Given the description of an element on the screen output the (x, y) to click on. 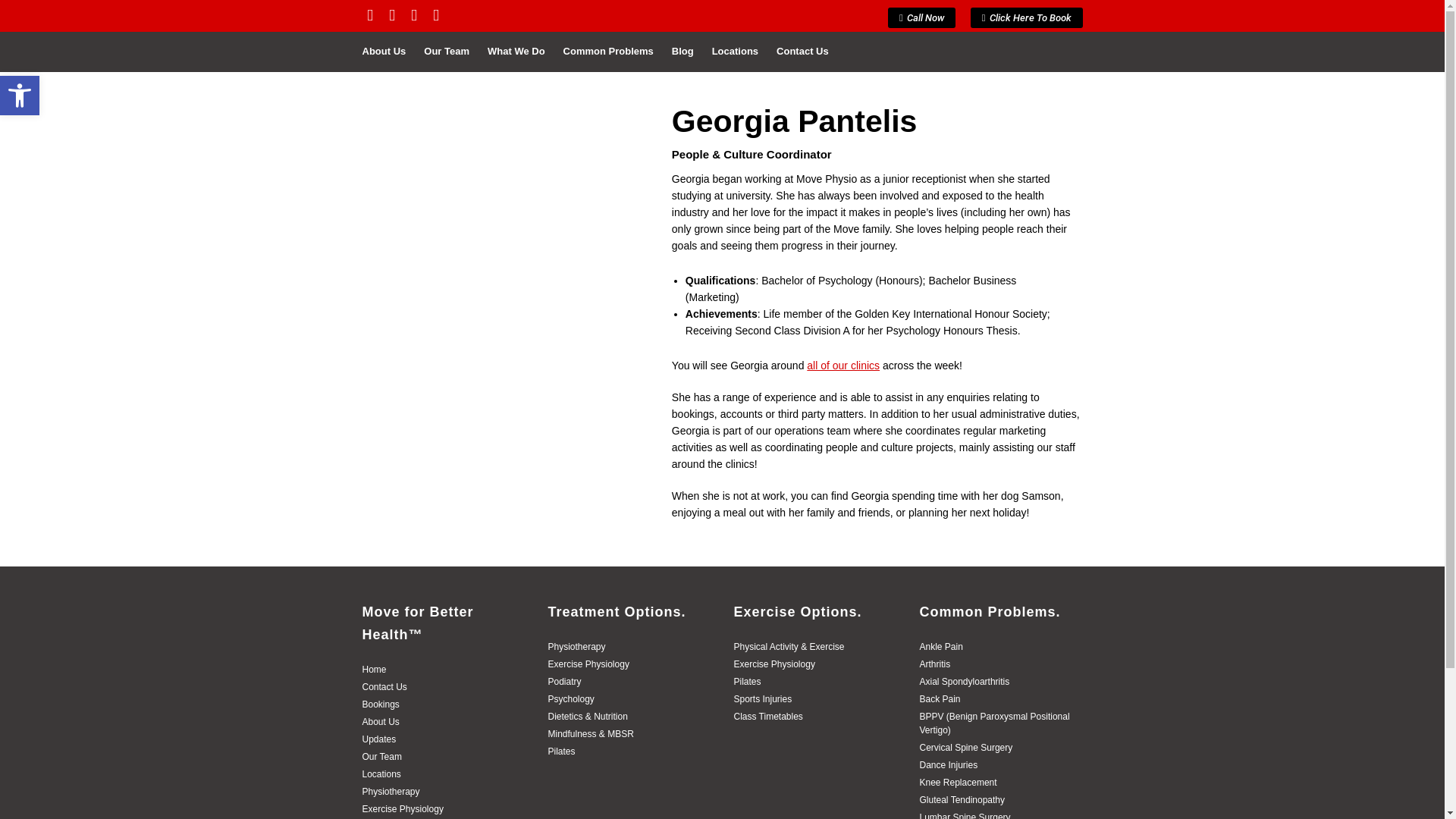
Pilates Element type: text (747, 681)
Class Timetables Element type: text (768, 716)
Physiotherapy Element type: text (576, 646)
Updates Element type: text (379, 739)
Physiotherapy Element type: text (391, 791)
Cervical Spine Surgery Element type: text (965, 747)
Physical Activity & Exercise Element type: text (789, 646)
About Us Element type: text (380, 721)
Blog Element type: text (682, 51)
Locations Element type: text (381, 773)
Knee Replacement Element type: text (957, 782)
Click Here To Book Element type: text (1026, 17)
Back Pain Element type: text (939, 698)
all of our clinics Element type: text (842, 365)
BPPV (Benign Paroxysmal Positional Vertigo) Element type: text (994, 723)
Podiatry Element type: text (563, 681)
Call Now Element type: text (921, 17)
Open toolbar
Accessibility Tools Element type: text (19, 95)
Exercise Physiology Element type: text (402, 808)
Pilates Element type: text (560, 751)
Our Team Element type: text (381, 756)
Ankle Pain Element type: text (940, 646)
Common Problems Element type: text (608, 51)
Arthritis Element type: text (934, 663)
Locations Element type: text (734, 51)
Dance Injuries Element type: text (948, 764)
Mindfulness & MBSR Element type: text (590, 733)
Gluteal Tendinopathy Element type: text (961, 799)
What We Do Element type: text (516, 51)
About Us Element type: text (388, 51)
Exercise Physiology Element type: text (774, 663)
Contact Us Element type: text (384, 686)
Home Element type: text (374, 669)
Our Team Element type: text (446, 51)
Axial Spondyloarthritis Element type: text (964, 681)
Sports Injuries Element type: text (763, 698)
Bookings Element type: text (380, 704)
Contact Us Element type: text (797, 51)
Exercise Physiology Element type: text (587, 663)
Dietetics & Nutrition Element type: text (587, 716)
Psychology Element type: text (570, 698)
